Given the description of an element on the screen output the (x, y) to click on. 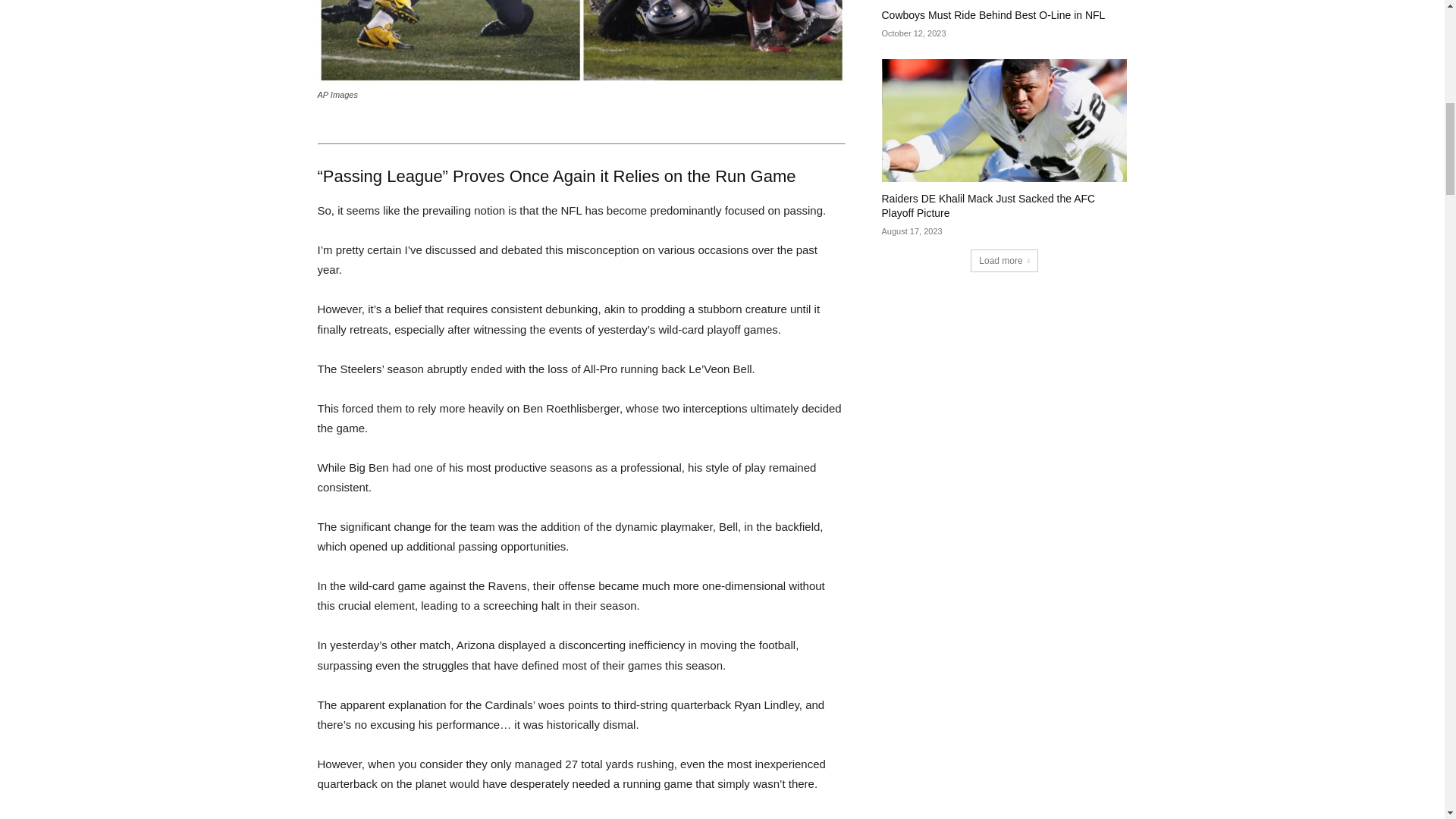
AP Images (580, 42)
